Given the description of an element on the screen output the (x, y) to click on. 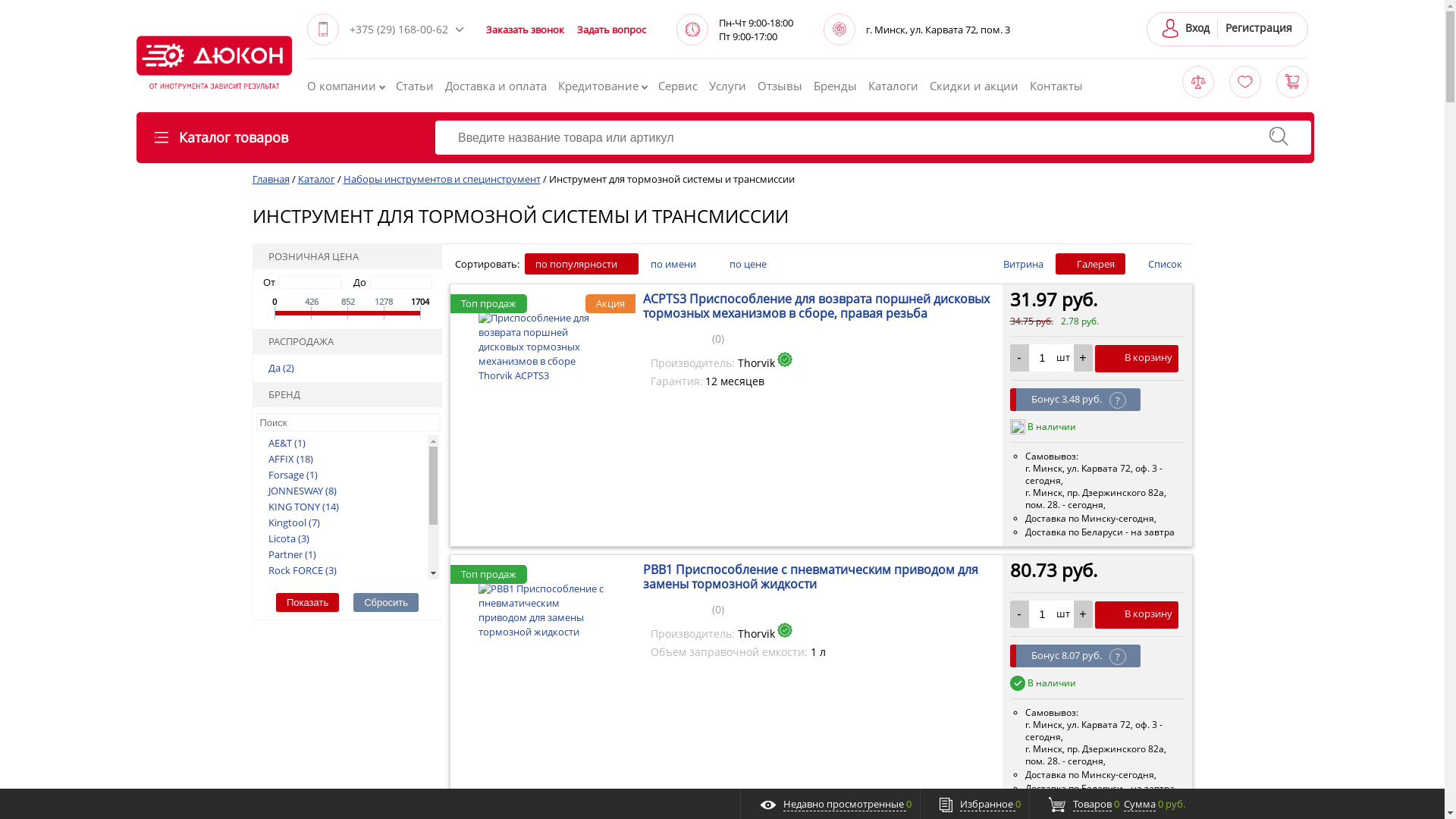
Spin (1) Element type: text (278, 602)
+ Element type: text (1082, 613)
- Element type: text (1019, 357)
Thorvik (31) Element type: text (288, 617)
Dukon logo Element type: hover (213, 61)
0 Element type: hover (679, 608)
KING TONY (14) Element type: text (297, 506)
AE&T (1) Element type: text (280, 443)
+ Element type: text (1082, 357)
Forsage (1) Element type: text (286, 475)
JONNESWAY (8) Element type: text (296, 490)
Licota (3) Element type: text (282, 538)
Kingtool (7) Element type: text (288, 522)
SpecX (1) Element type: text (282, 585)
0 Element type: hover (679, 336)
- Element type: text (1019, 613)
Rock FORCE (3) Element type: text (296, 570)
Partner (1) Element type: text (286, 553)
NORDBERG (2) Element type: text (295, 649)
+375 (29) 168-00-62 Element type: text (402, 28)
AFFIX (18) Element type: text (284, 458)
